Given the description of an element on the screen output the (x, y) to click on. 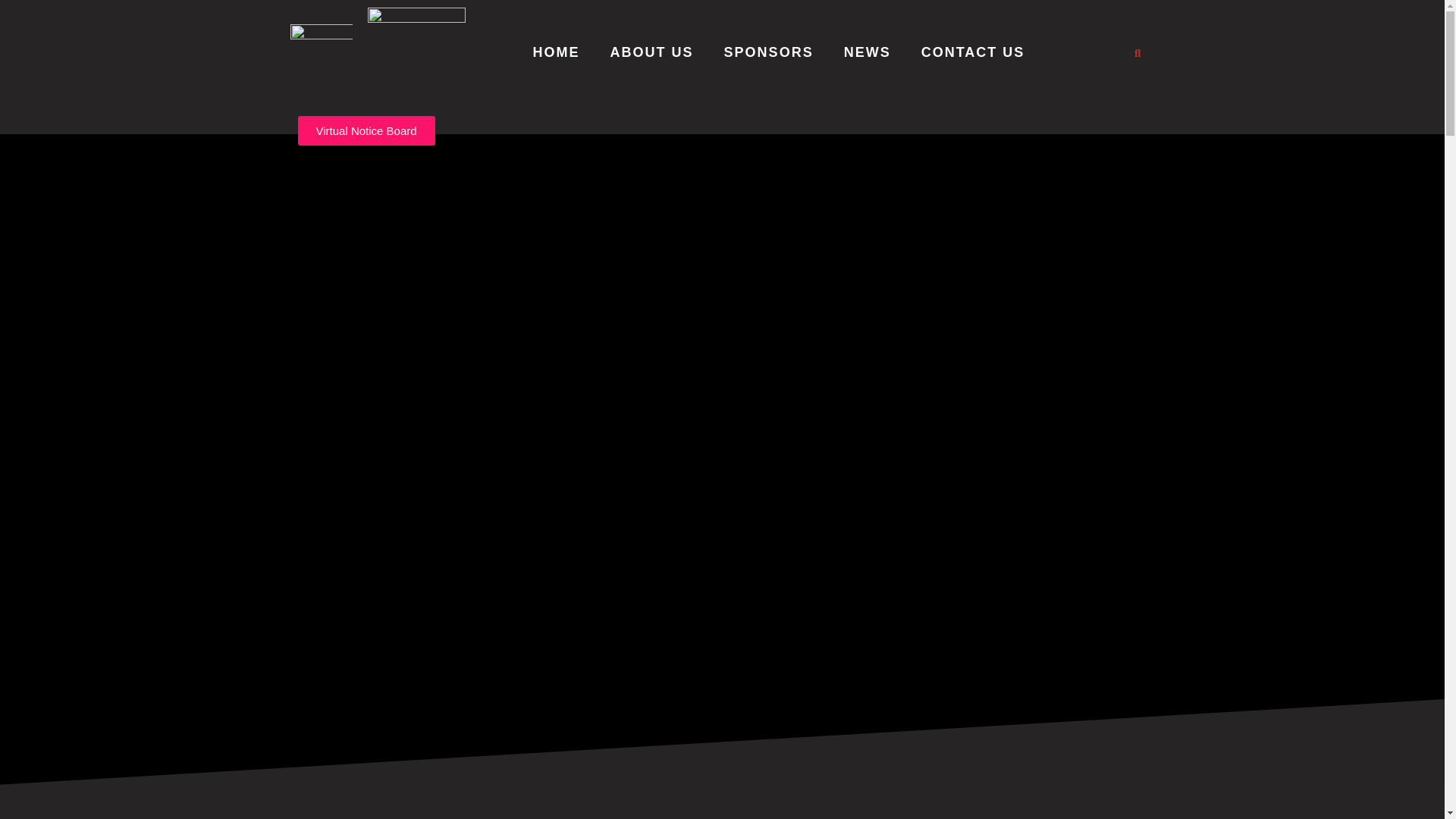
CONTACT US (973, 53)
SPONSORS (768, 53)
HOME (555, 53)
ABOUT US (652, 53)
NEWS (867, 53)
